Given the description of an element on the screen output the (x, y) to click on. 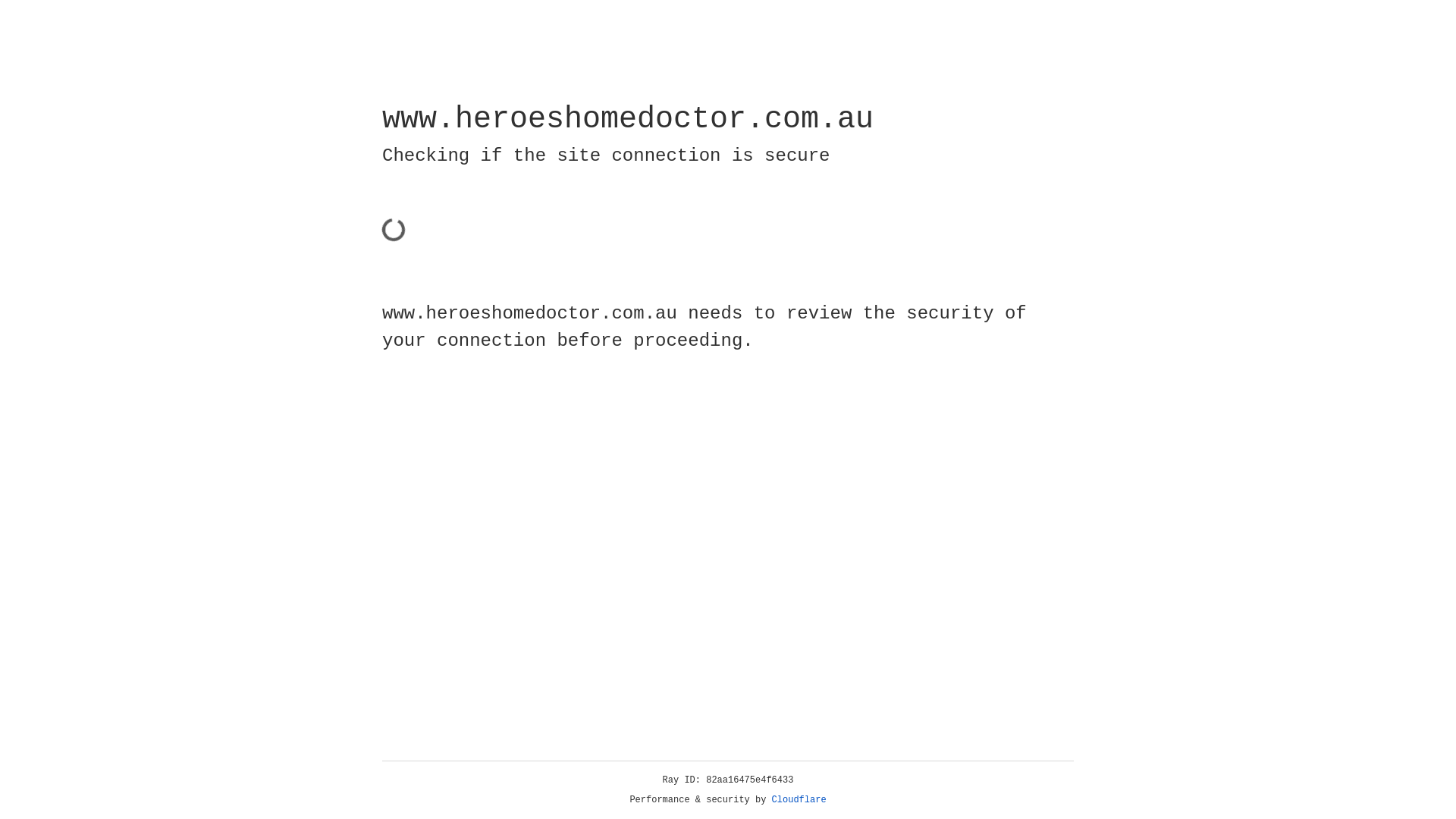
Cloudflare Element type: text (798, 799)
